Given the description of an element on the screen output the (x, y) to click on. 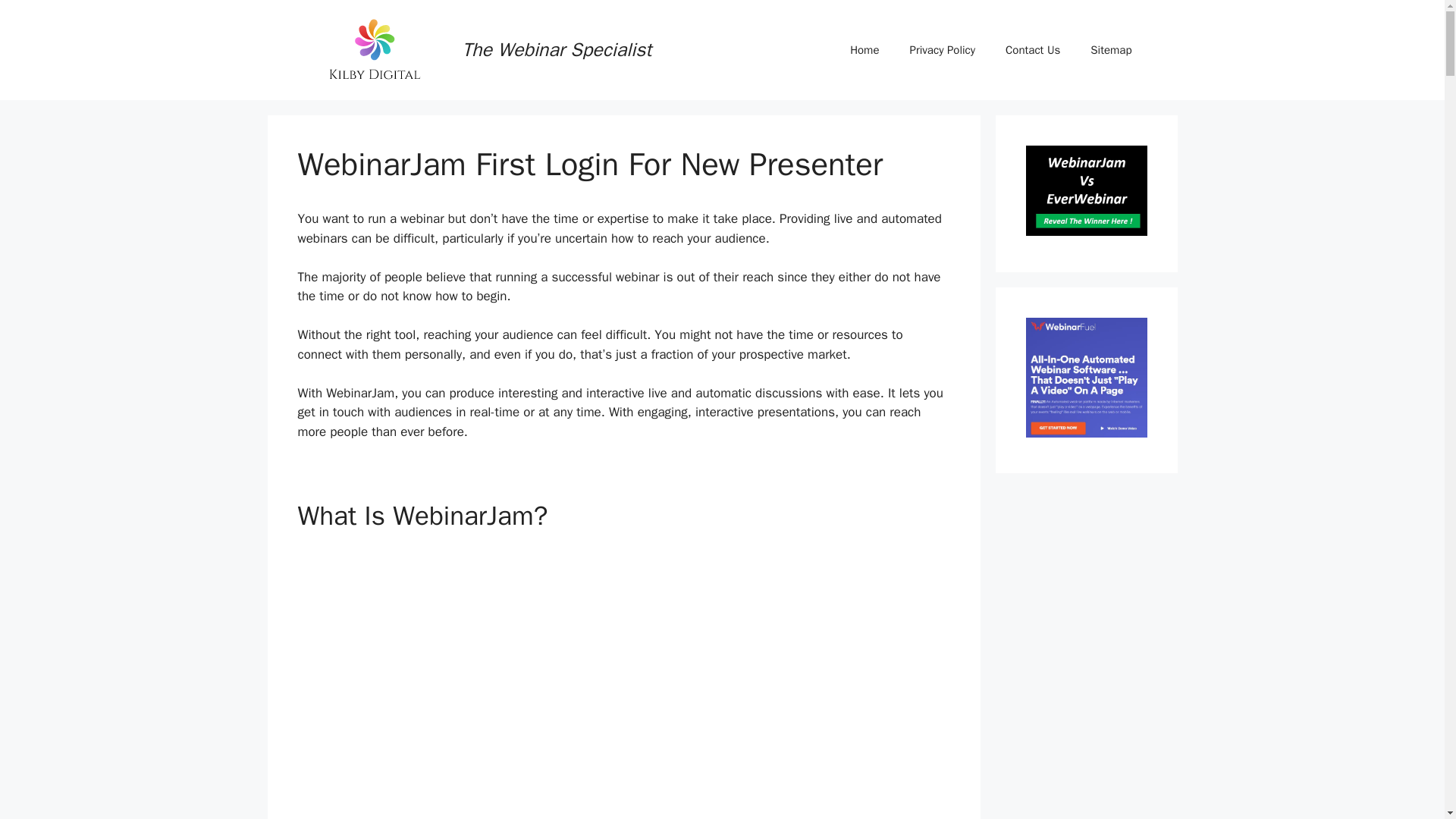
Privacy Policy (941, 49)
Contact Us (1032, 49)
The Webinar Specialist (557, 49)
Home (863, 49)
Sitemap (1111, 49)
